Given the description of an element on the screen output the (x, y) to click on. 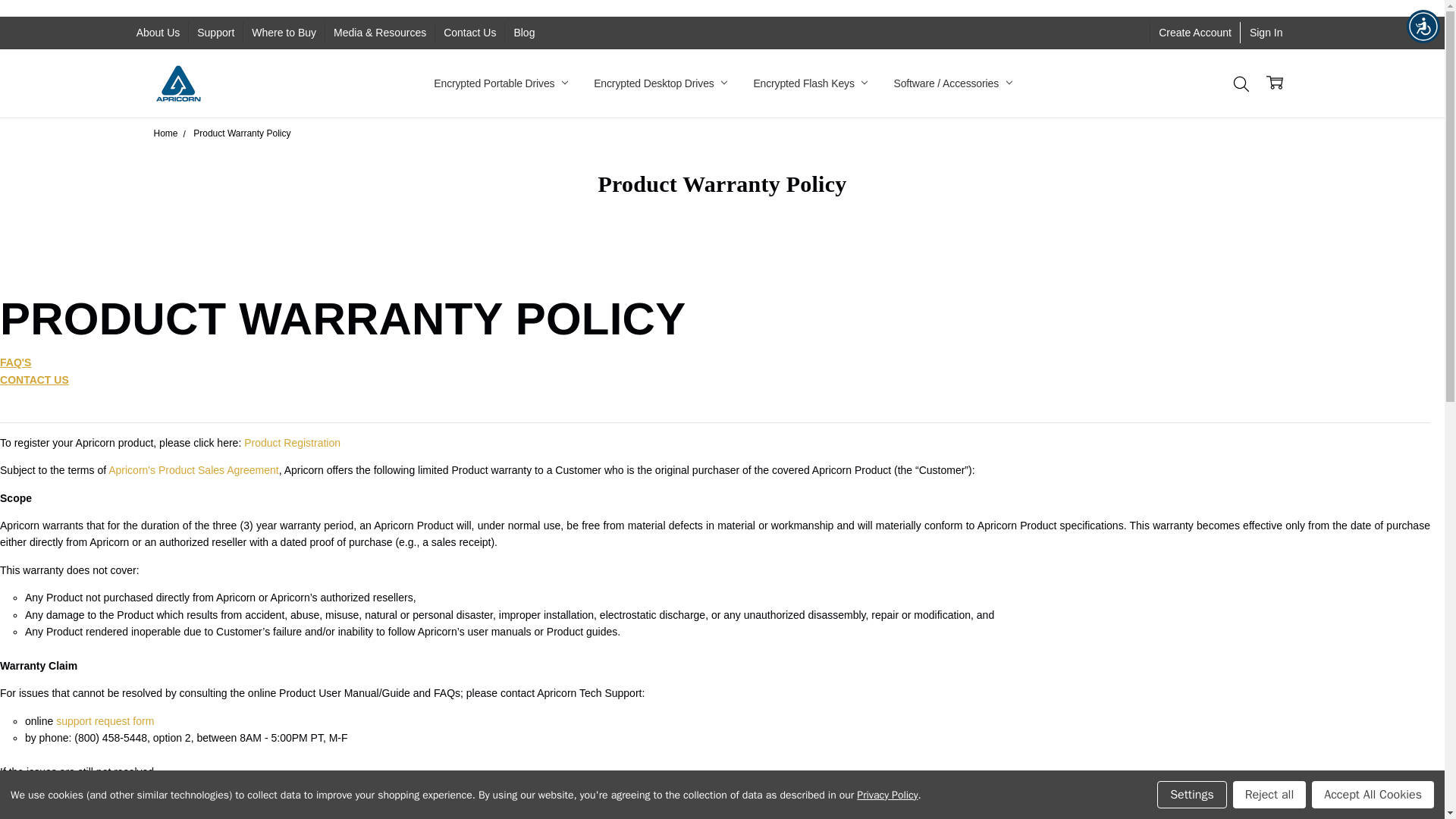
Apricorn  (177, 83)
Encrypted Desktop Drives (659, 83)
Encrypted Flash Keys (809, 83)
Encrypted Portable Drives (500, 83)
About Us (158, 32)
Sign In (1266, 32)
Accessibility Menu (1422, 26)
Where to Buy (283, 32)
Create Account (1195, 32)
Media and Resources (484, 83)
Contact Us (469, 32)
Support (216, 32)
Blog (524, 32)
Show All (441, 83)
Privacy Policy (465, 83)
